Given the description of an element on the screen output the (x, y) to click on. 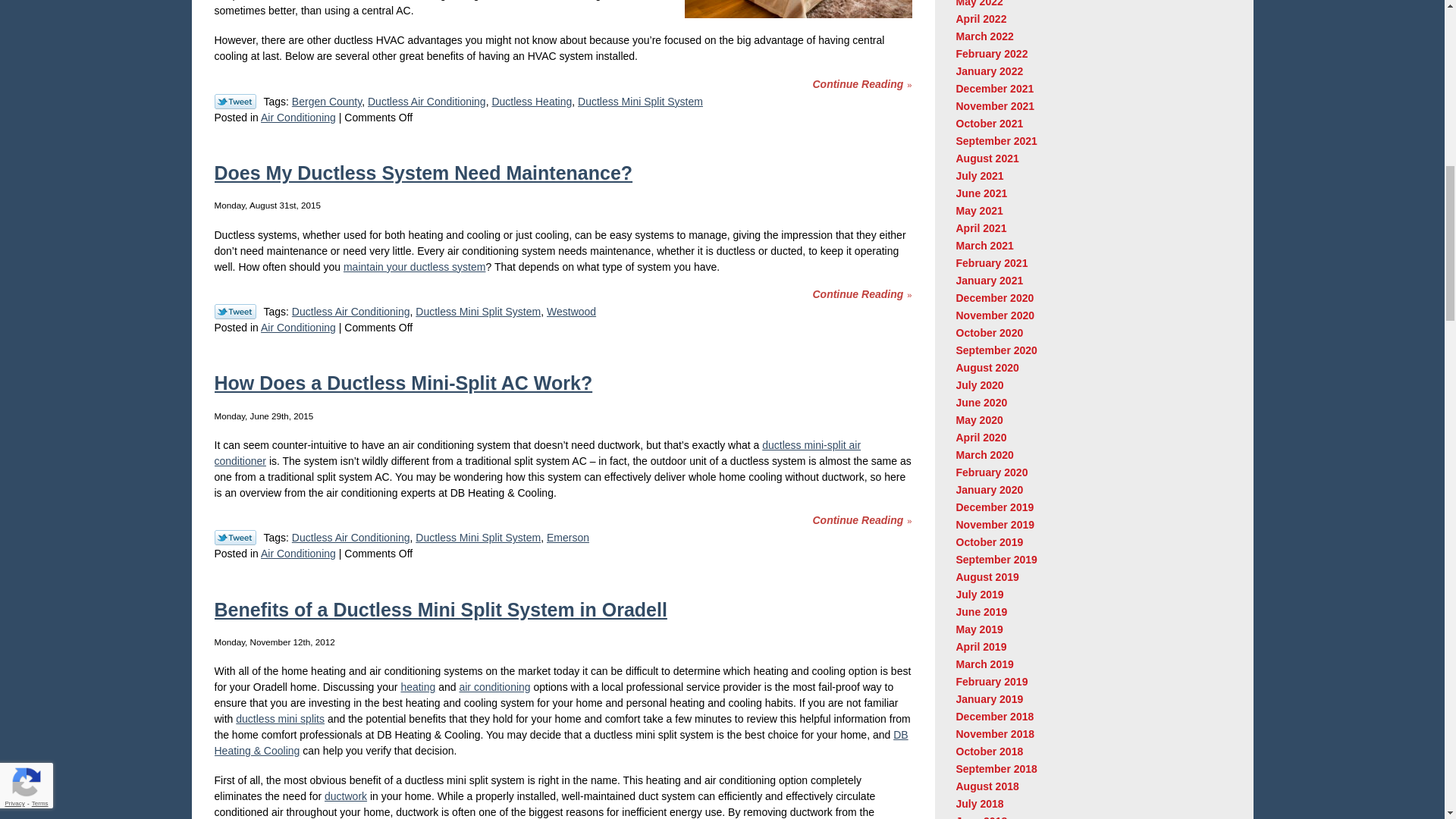
Permanent Link to How Does a Ductless Mini-Split AC Work? (861, 520)
Permanent Link to Does My Ductless System Need Maintenance? (861, 294)
Permanent Link to How Does a Ductless Mini-Split AC Work? (403, 382)
Permanent Link to Does My Ductless System Need Maintenance? (422, 172)
